Given the description of an element on the screen output the (x, y) to click on. 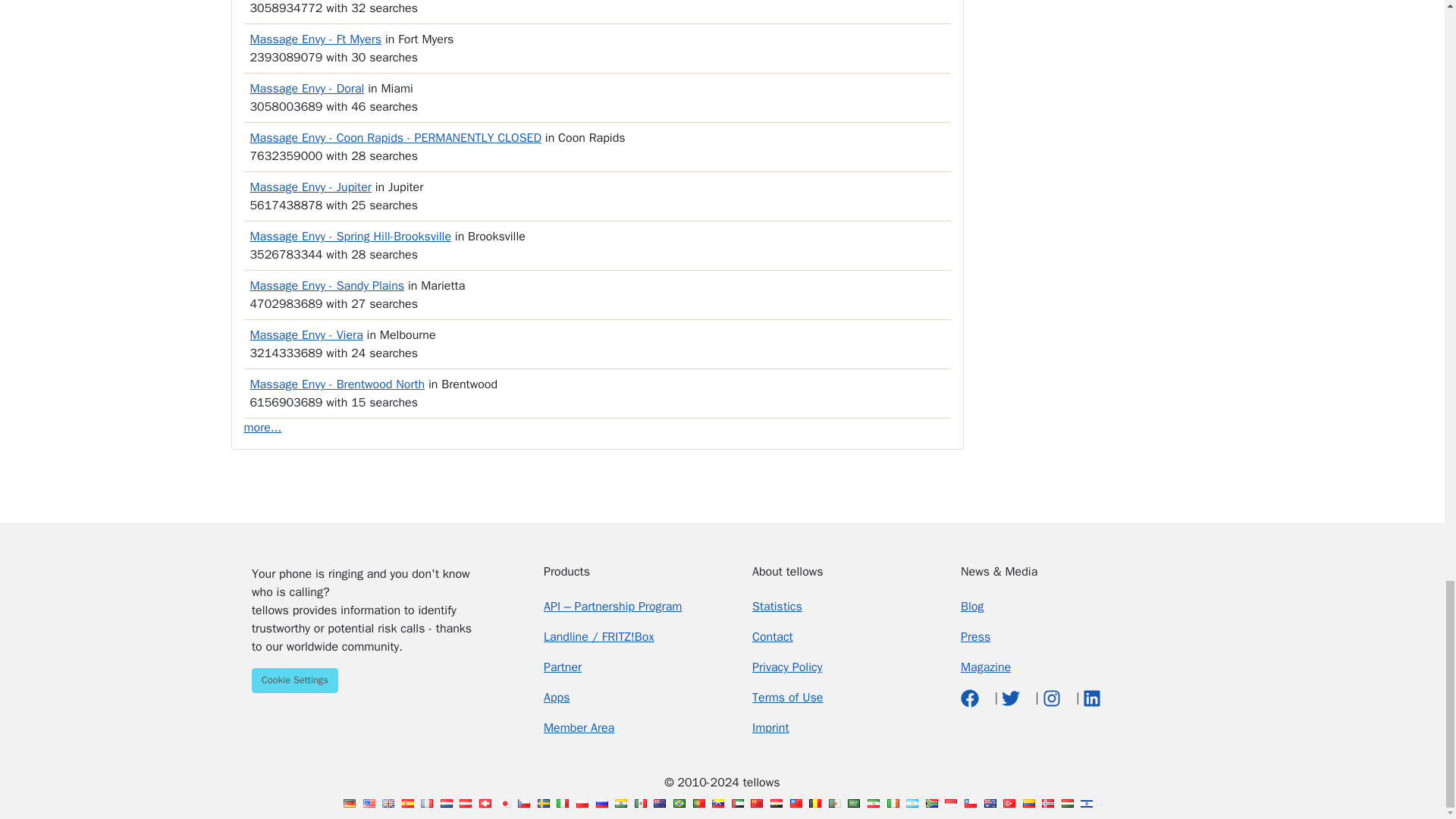
Instagram (1053, 697)
Presse (975, 636)
twitter (1012, 697)
tellows USA (368, 803)
tellows France (426, 803)
tellows Great Britain (387, 803)
LinkedIn (1091, 697)
Magazin (985, 667)
tellows Germany (349, 803)
tellows Austria (465, 803)
tellows Spain (407, 803)
Blog (972, 606)
tellows Netherlands (446, 803)
Facebook (971, 697)
